Given the description of an element on the screen output the (x, y) to click on. 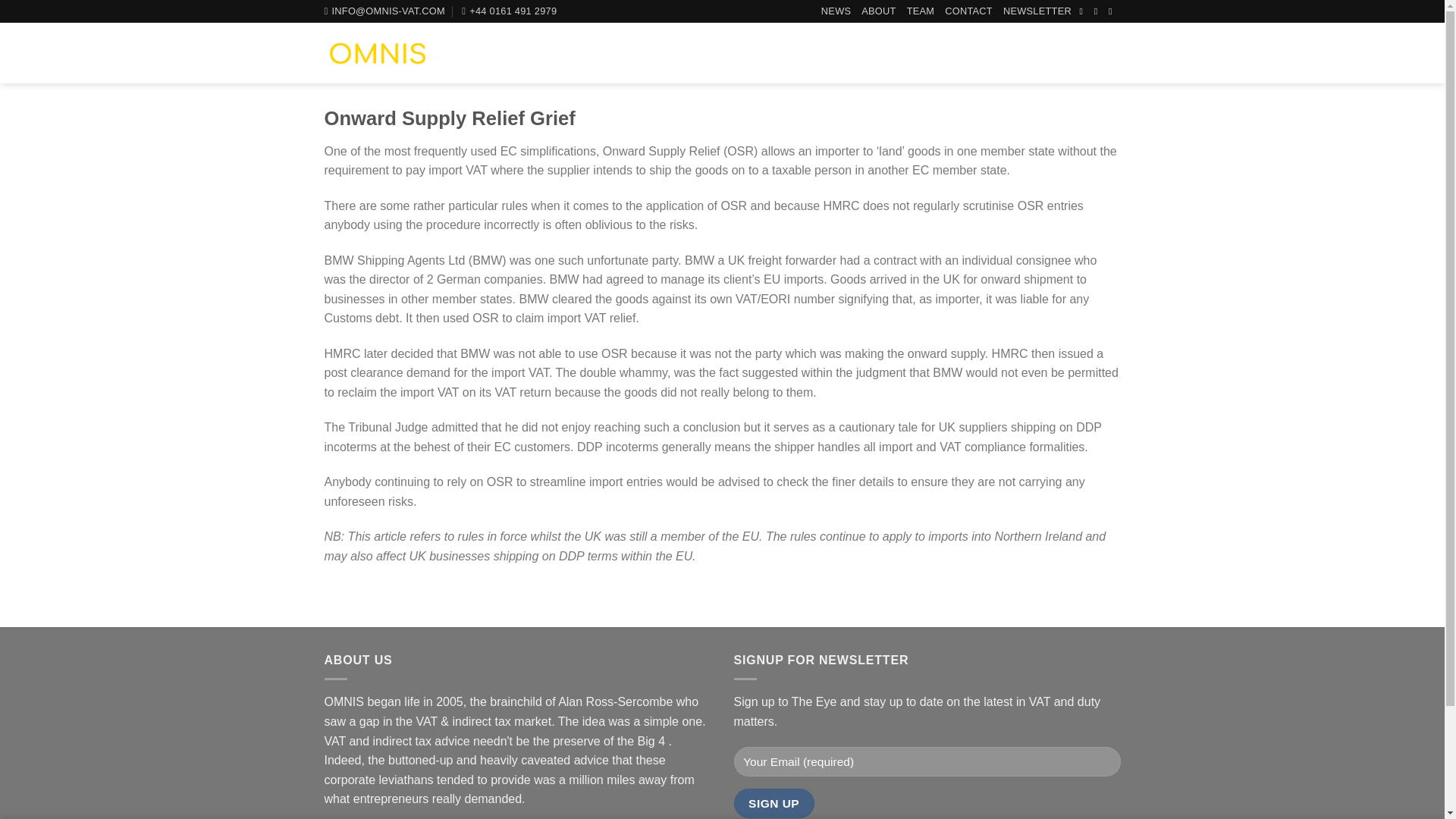
CASE STUDIES (1045, 52)
NEWS (835, 11)
ABOUT (878, 11)
Omnis VAT Consultancy - VAT and Customs Duty advice (377, 53)
TEAM (920, 11)
Sign Up (773, 803)
NEWSLETTER (1037, 11)
VAT APPEALS (941, 52)
CONTACT (968, 11)
VAT CONSULTANCY (656, 52)
CUSTOMS CONSULTANCY (807, 52)
Newsletter (1037, 11)
